Given the description of an element on the screen output the (x, y) to click on. 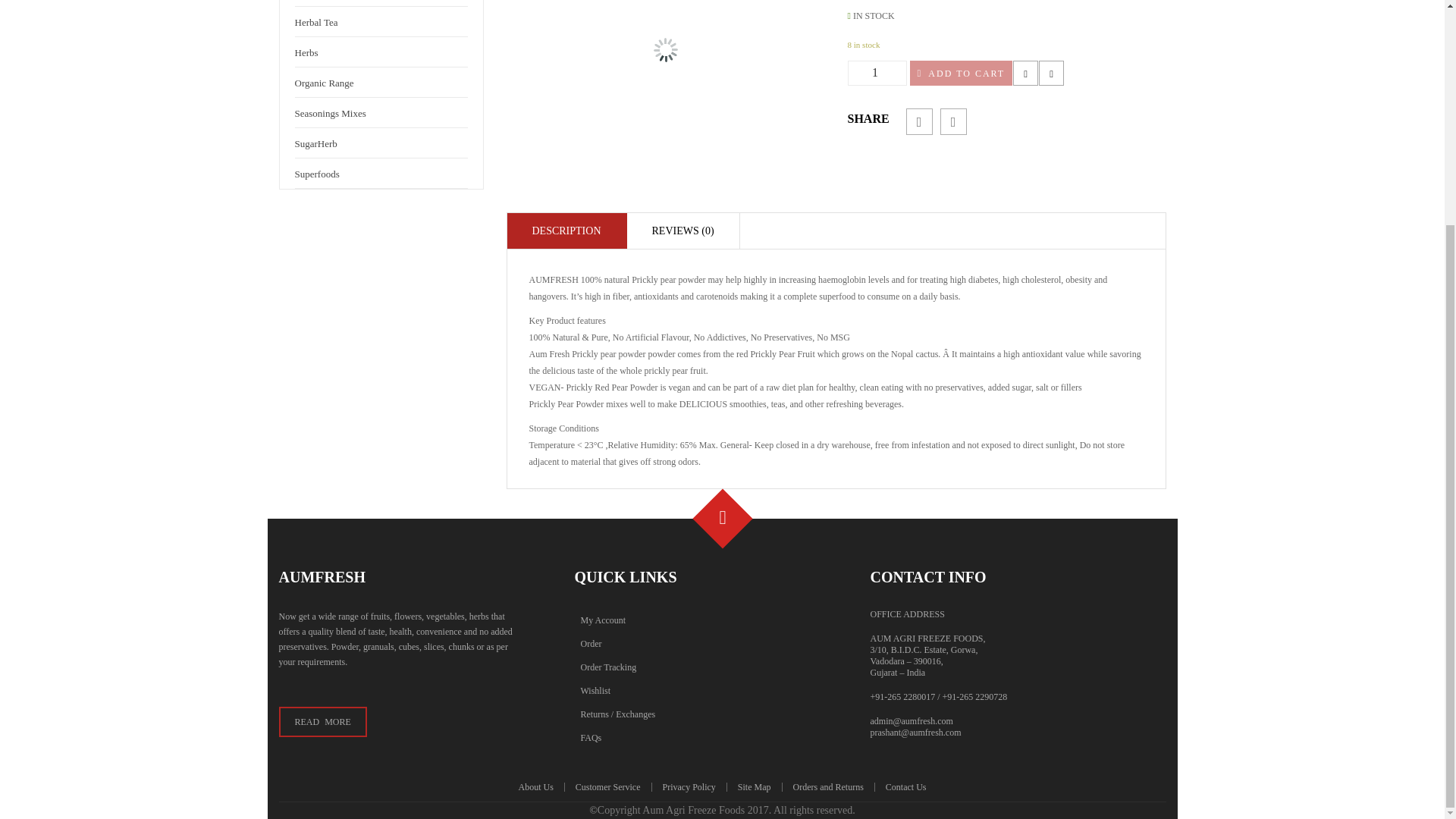
Organic Range (323, 82)
Compare (1051, 72)
Superfoods (316, 173)
Herbs (305, 51)
Seasonings Mixes (329, 112)
ADD TO CART (961, 72)
Herbal Tea (315, 21)
1 (877, 73)
Add to Compare (1051, 72)
SugarHerb (315, 143)
